Given the description of an element on the screen output the (x, y) to click on. 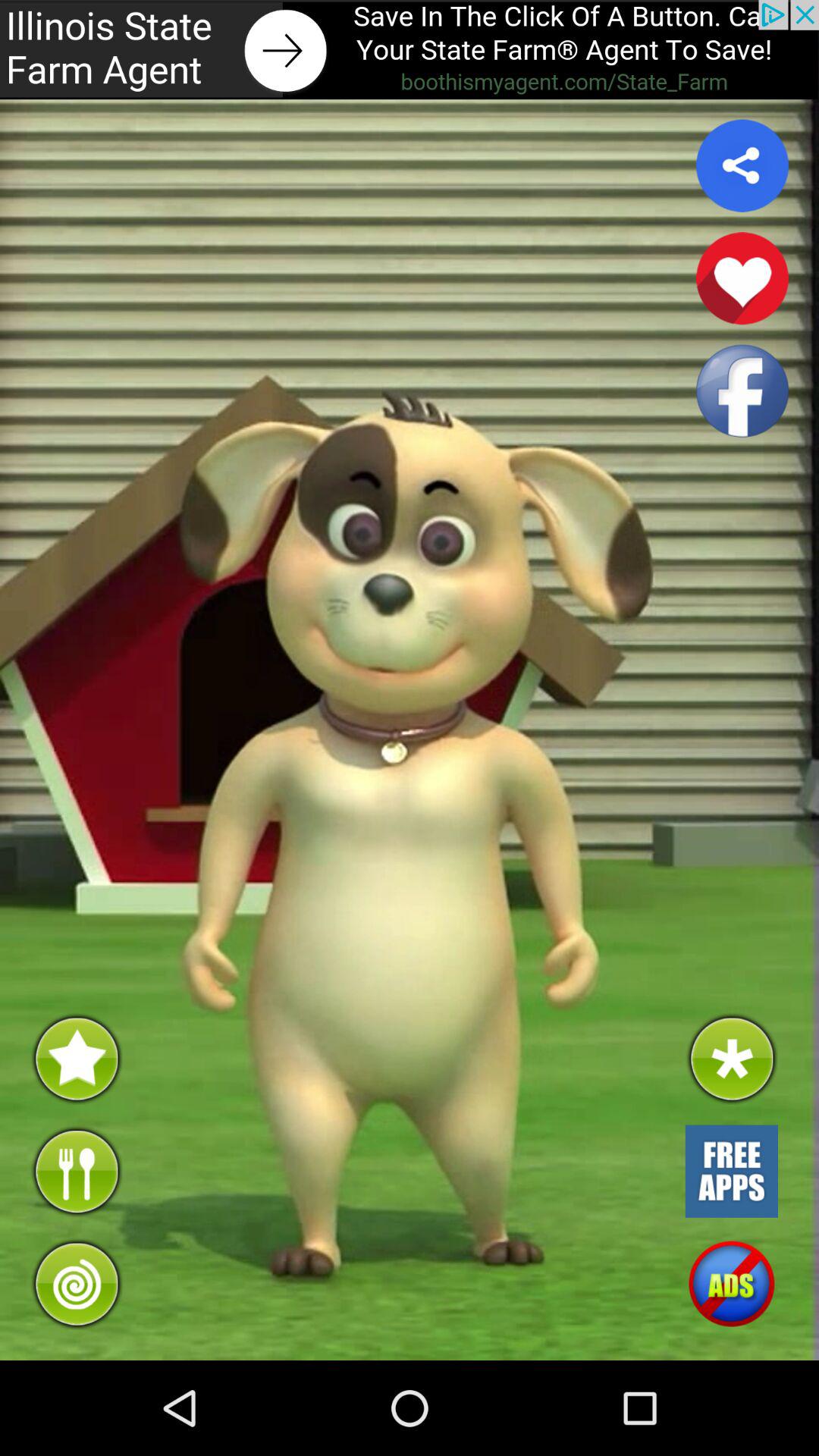
share your pet (742, 165)
